Given the description of an element on the screen output the (x, y) to click on. 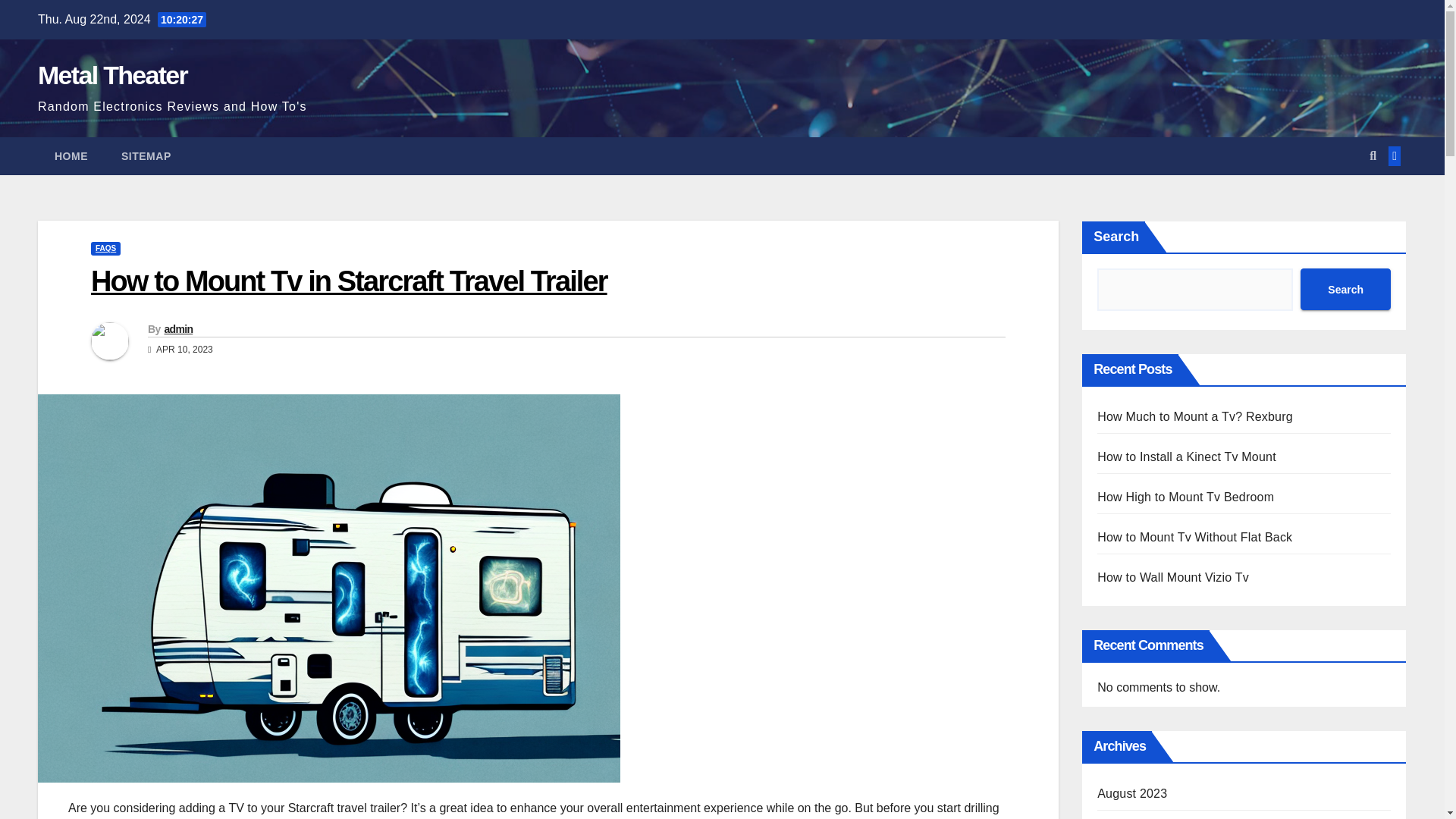
HOME (70, 156)
How to Mount Tv in Starcraft Travel Trailer (348, 281)
Home (70, 156)
Metal Theater (112, 74)
Permalink to: How to Mount Tv in Starcraft Travel Trailer (348, 281)
FAQS (105, 248)
admin (177, 328)
SITEMAP (145, 156)
